Given the description of an element on the screen output the (x, y) to click on. 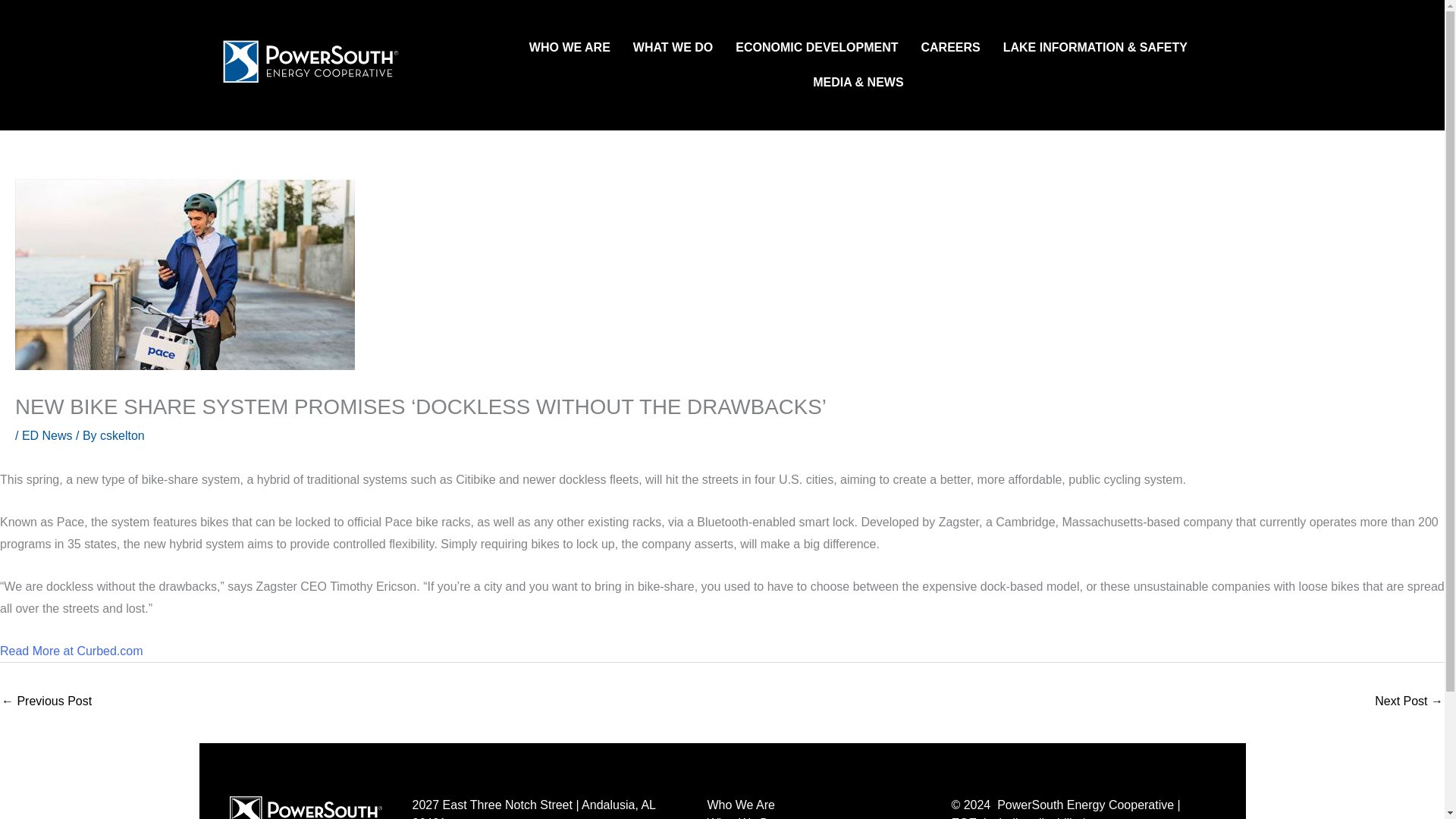
Who We Are (813, 805)
View all posts by cskelton (122, 435)
CAREERS (949, 47)
PowerSouth Energy Cooperative (304, 807)
ECONOMIC DEVELOPMENT (816, 47)
Point A Lake to begin refilling on Dec. 13 (1408, 702)
ED News (46, 435)
cskelton (122, 435)
WHAT WE DO (673, 47)
